Given the description of an element on the screen output the (x, y) to click on. 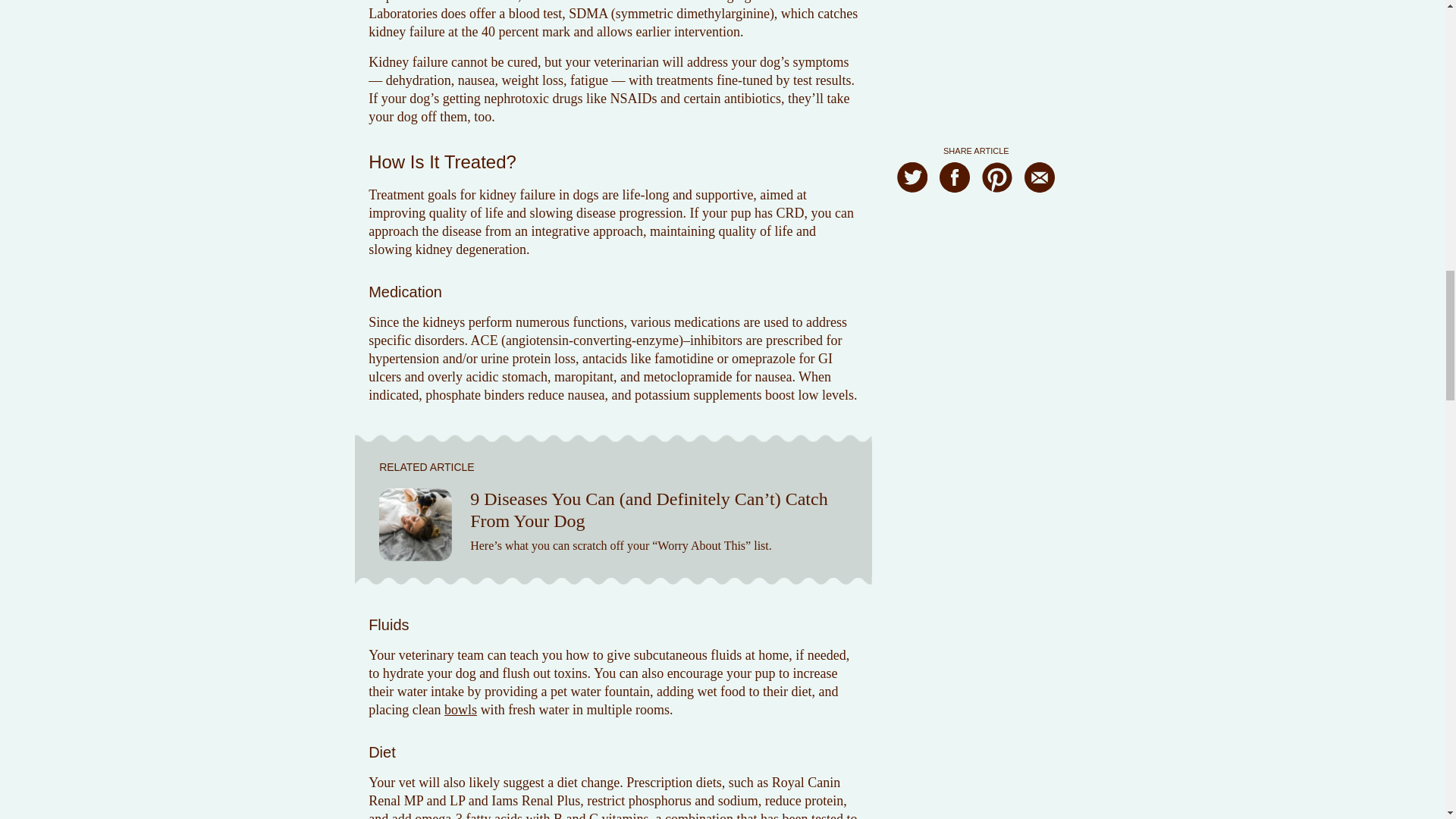
bowls (460, 709)
omega-3 fatty acids (468, 815)
